Given the description of an element on the screen output the (x, y) to click on. 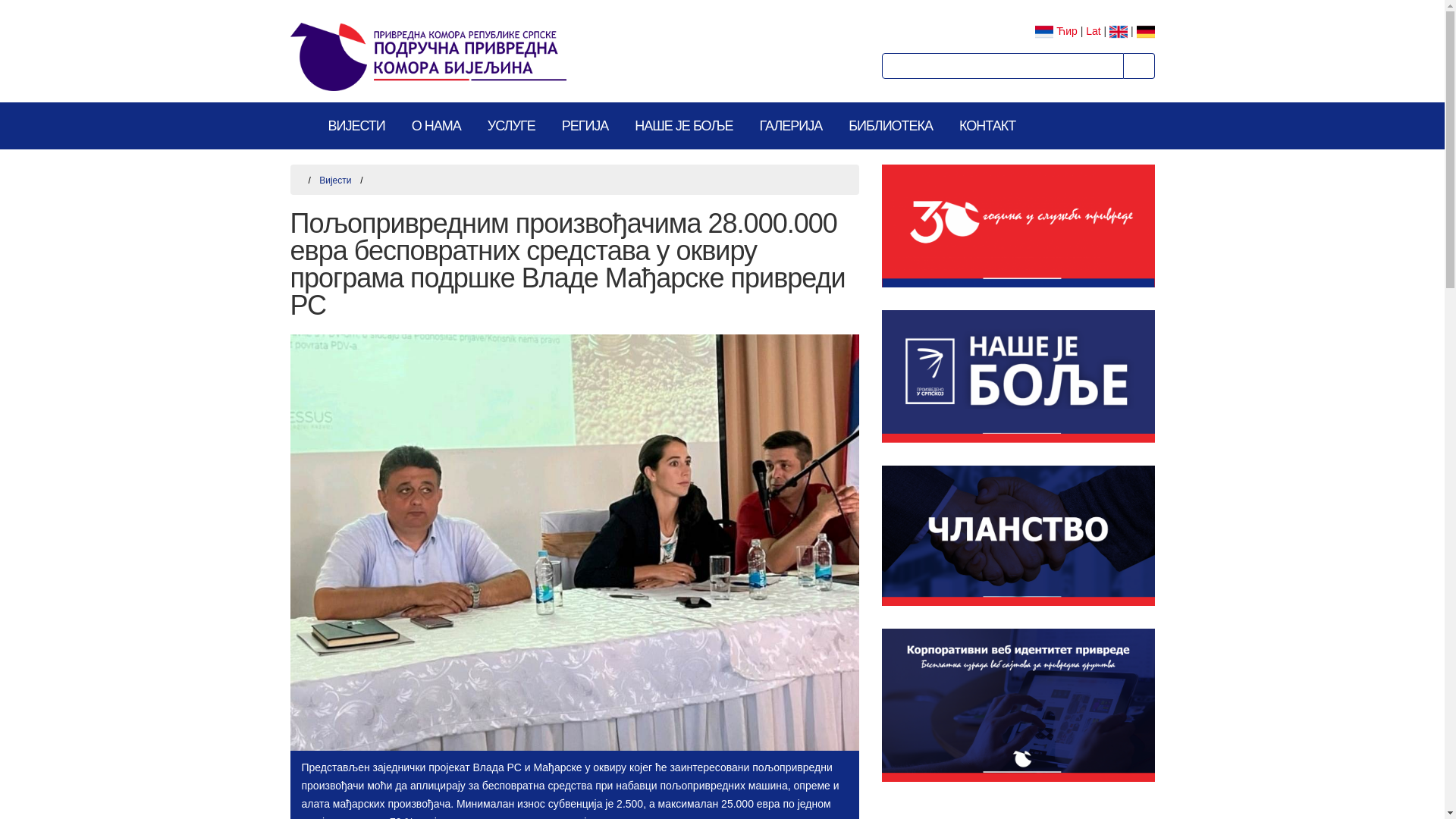
Lat Element type: text (1092, 31)
Korporativni veb identitet privrede  Element type: hover (1017, 705)
